Given the description of an element on the screen output the (x, y) to click on. 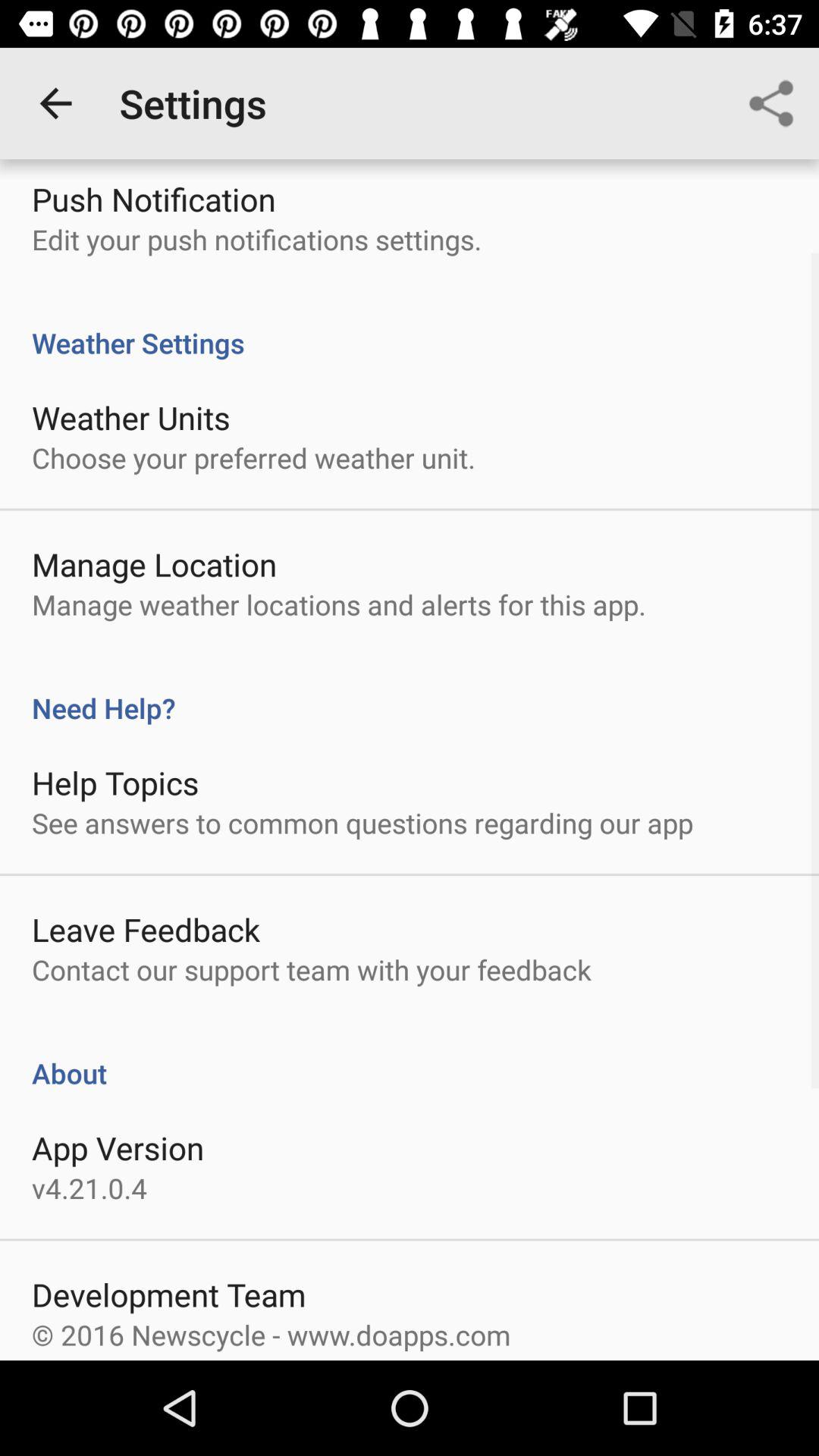
choose item next to settings  app (771, 103)
